Given the description of an element on the screen output the (x, y) to click on. 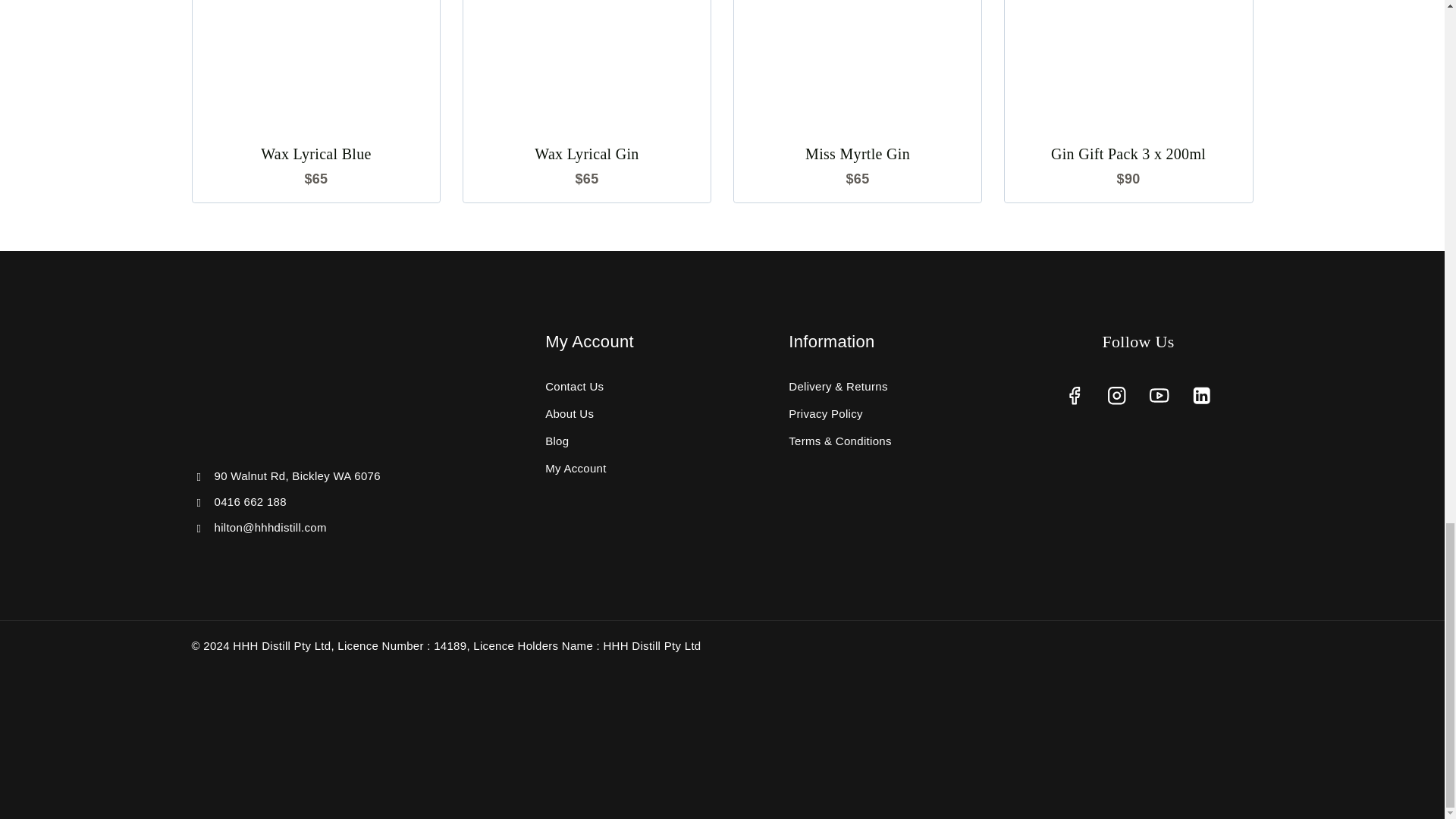
Gin Gift Pack 3 x 200ml (1128, 153)
0416 662 188 (249, 501)
Wax Lyrical Blue (315, 153)
Wax Lyrical Gin (586, 153)
Contact Us (574, 386)
Miss Myrtle Gin (857, 153)
